Given the description of an element on the screen output the (x, y) to click on. 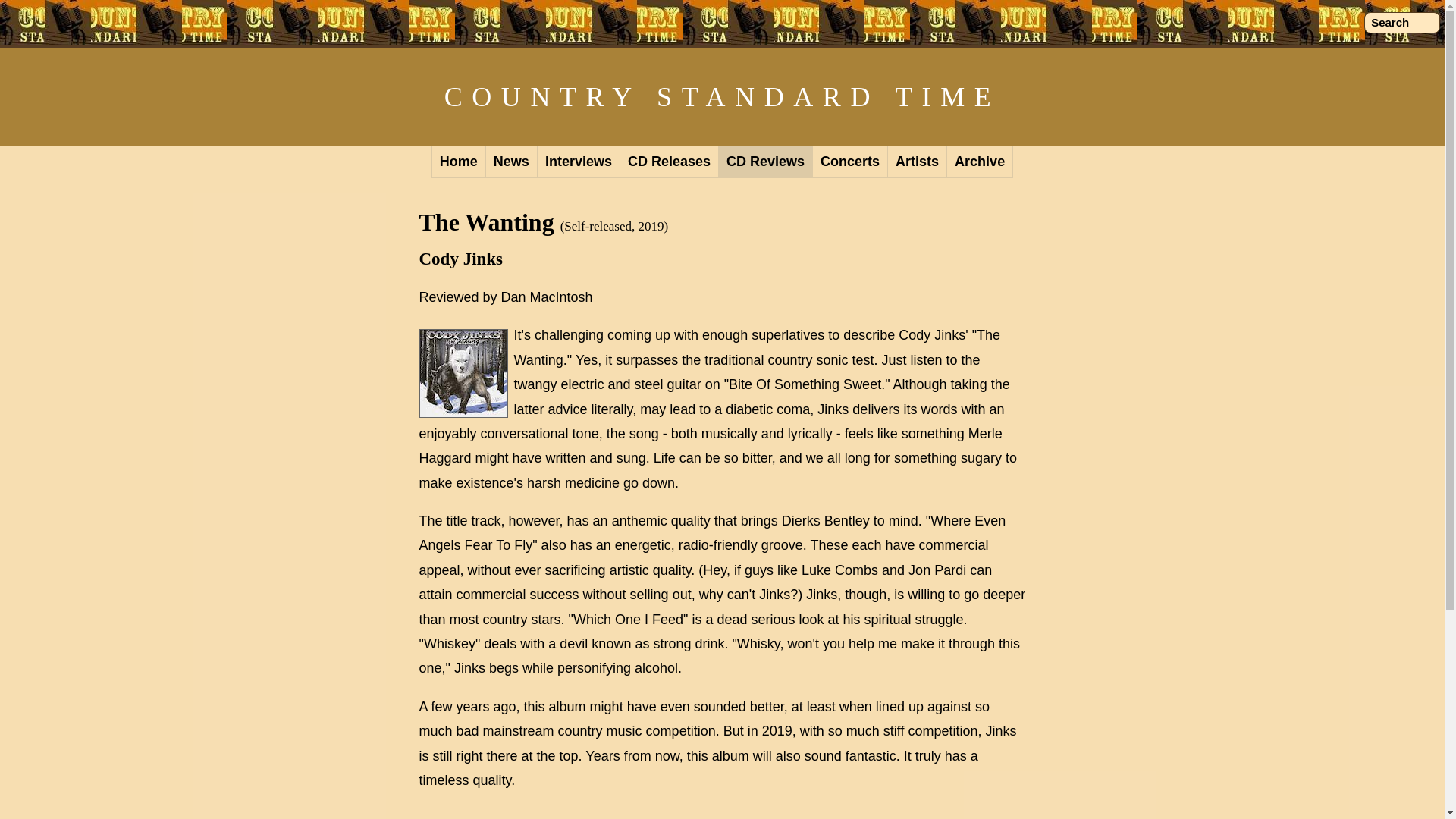
Interviews (578, 162)
CD Releases (669, 162)
 Search (1401, 22)
 Search (1401, 22)
Artists (917, 162)
CD Reviews (765, 162)
Archive (980, 162)
News (511, 162)
Home (458, 162)
COUNTRY STANDARD TIME (722, 96)
Concerts (850, 162)
